Given the description of an element on the screen output the (x, y) to click on. 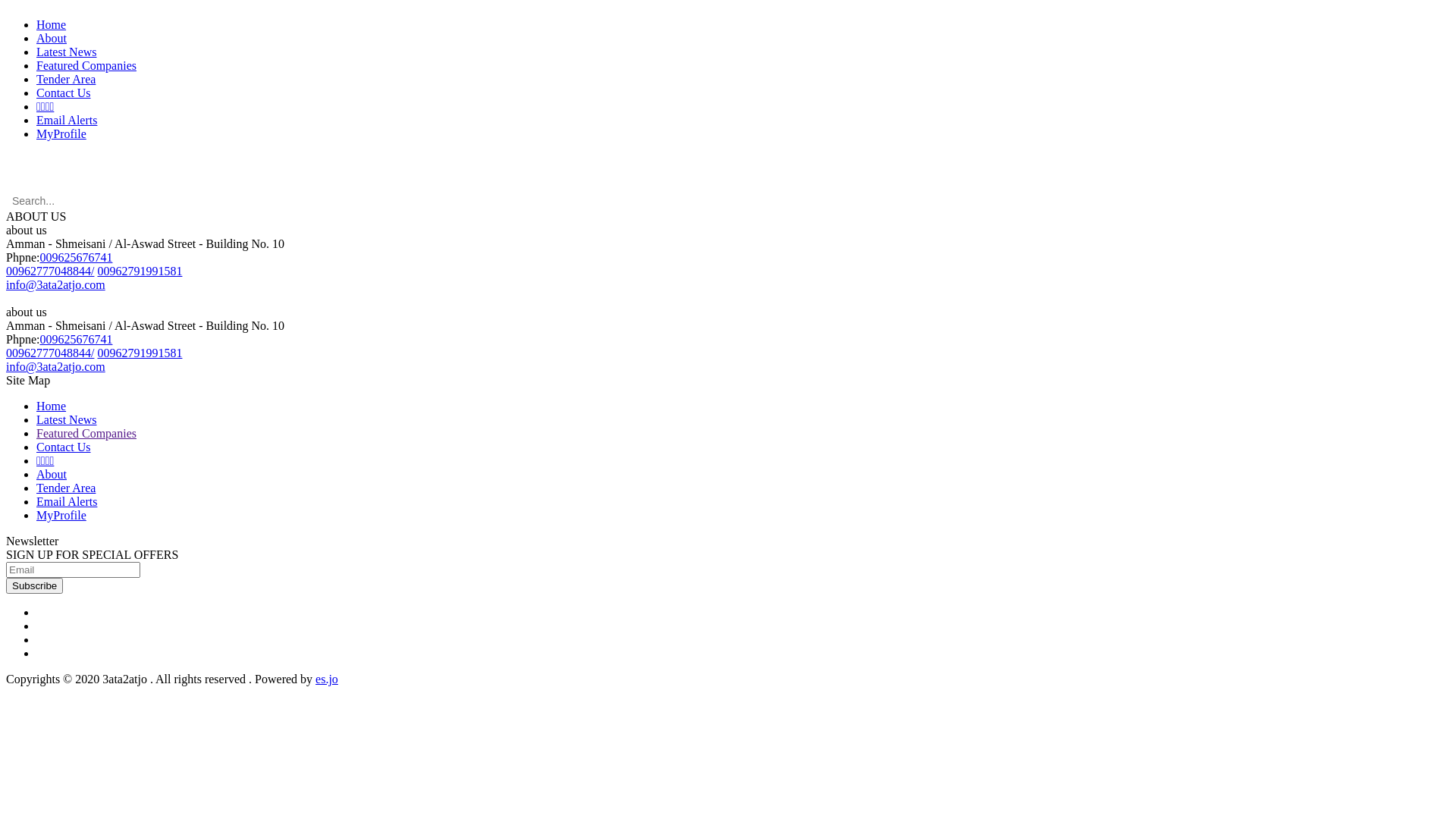
Latest News Element type: text (66, 51)
00962791991581 Element type: text (139, 352)
00962777048844/ Element type: text (50, 270)
Featured Companies Element type: text (86, 432)
Contact Us Element type: text (63, 446)
Email Alerts Element type: text (66, 119)
About Element type: text (51, 473)
Email Alerts Element type: text (66, 501)
Latest News Element type: text (66, 419)
Home Element type: text (50, 24)
009625676741 Element type: text (75, 257)
info@3ata2atjo.com Element type: text (55, 366)
es.jo Element type: text (326, 678)
Tender Area Element type: text (65, 78)
Contact Us Element type: text (63, 92)
00962791991581 Element type: text (139, 270)
Featured Companies Element type: text (86, 65)
00962777048844/ Element type: text (50, 352)
Home Element type: text (50, 405)
MyProfile Element type: text (61, 514)
Tender Area Element type: text (65, 487)
Button Element type: text (20, 7)
009625676741 Element type: text (75, 338)
MyProfile Element type: text (61, 133)
info@3ata2atjo.com Element type: text (55, 284)
About Element type: text (51, 37)
Subscribe Element type: text (34, 585)
